Given the description of an element on the screen output the (x, y) to click on. 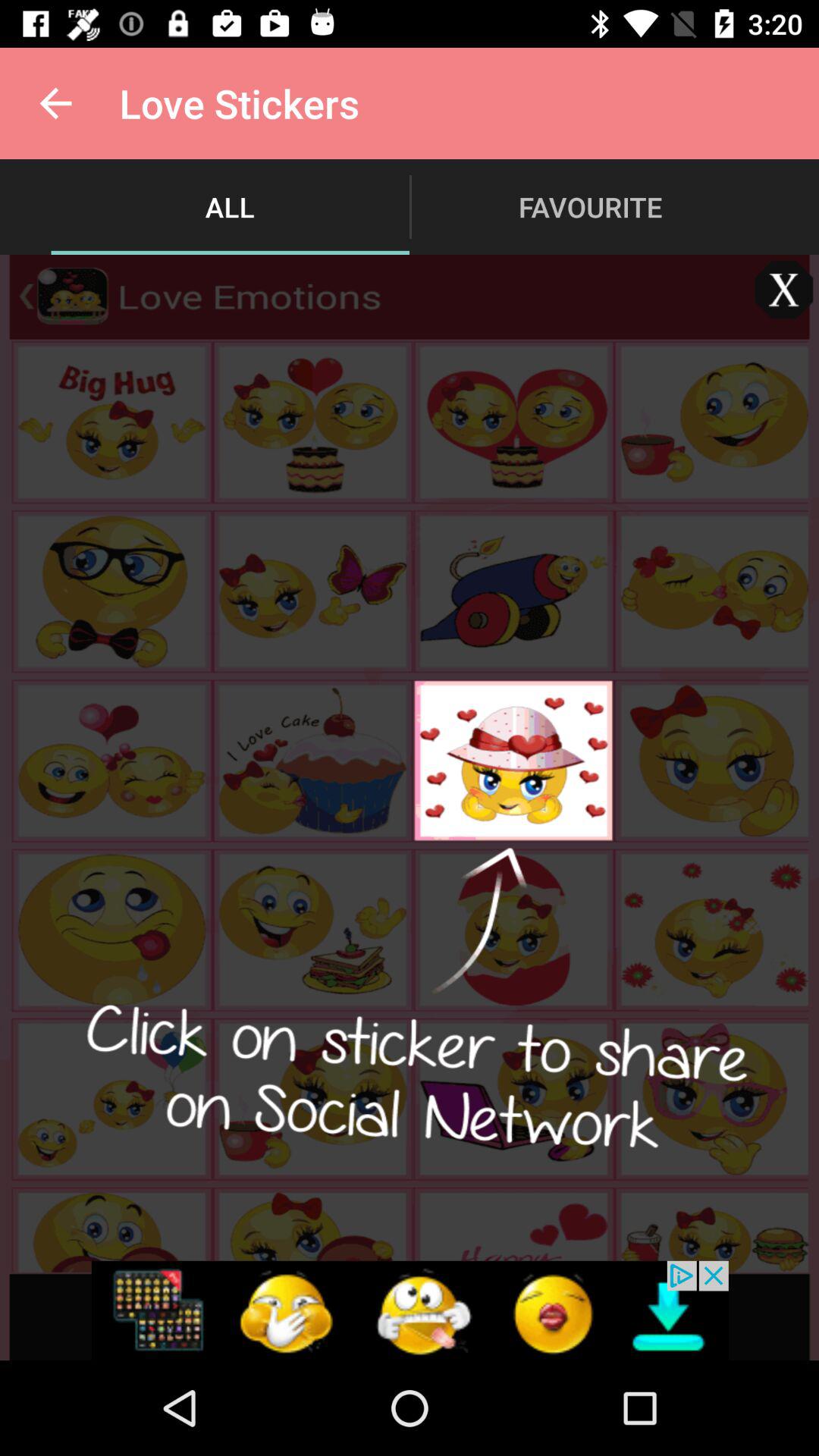
select image (784, 289)
